Given the description of an element on the screen output the (x, y) to click on. 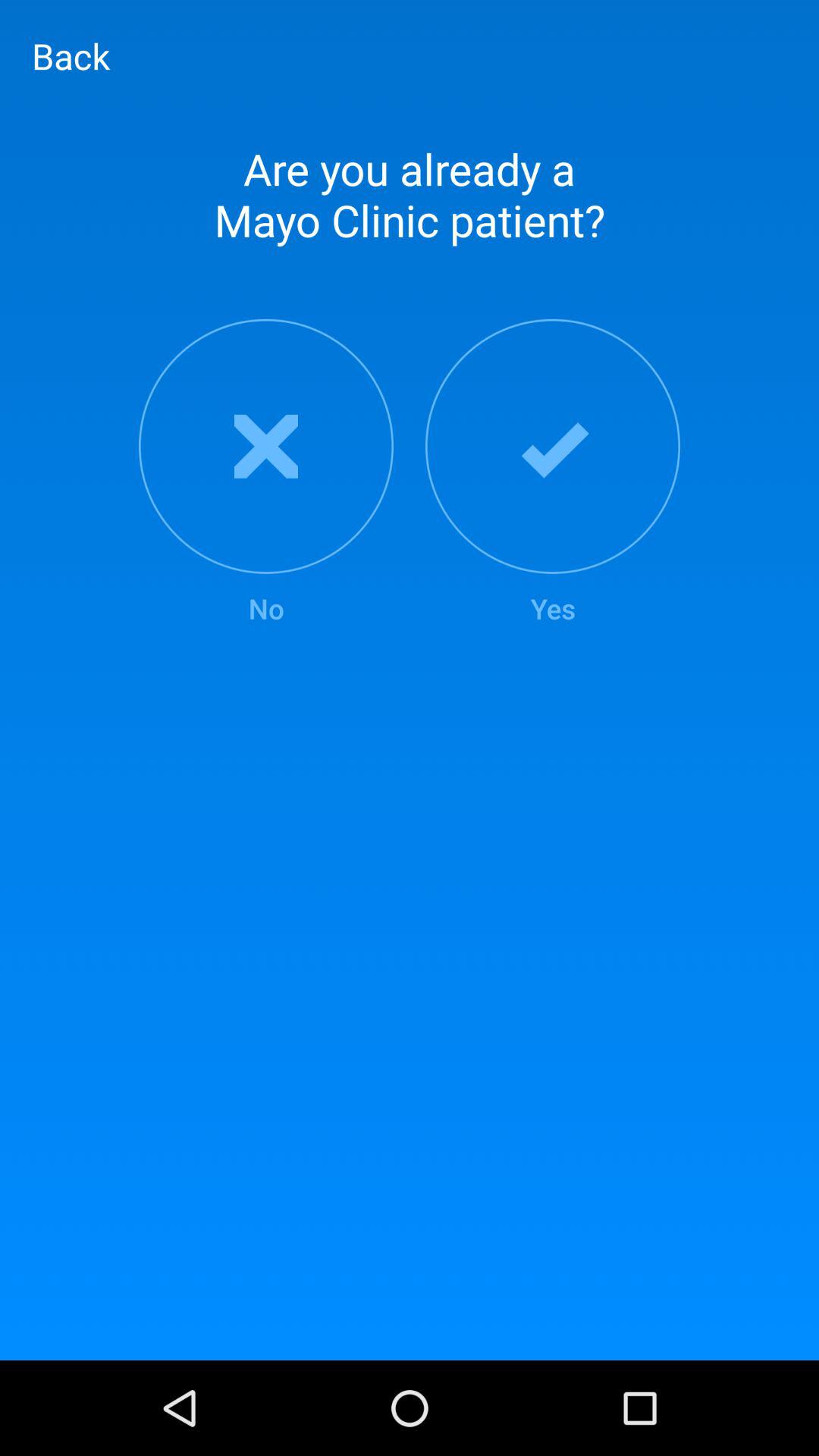
launch item below are you already item (552, 473)
